Given the description of an element on the screen output the (x, y) to click on. 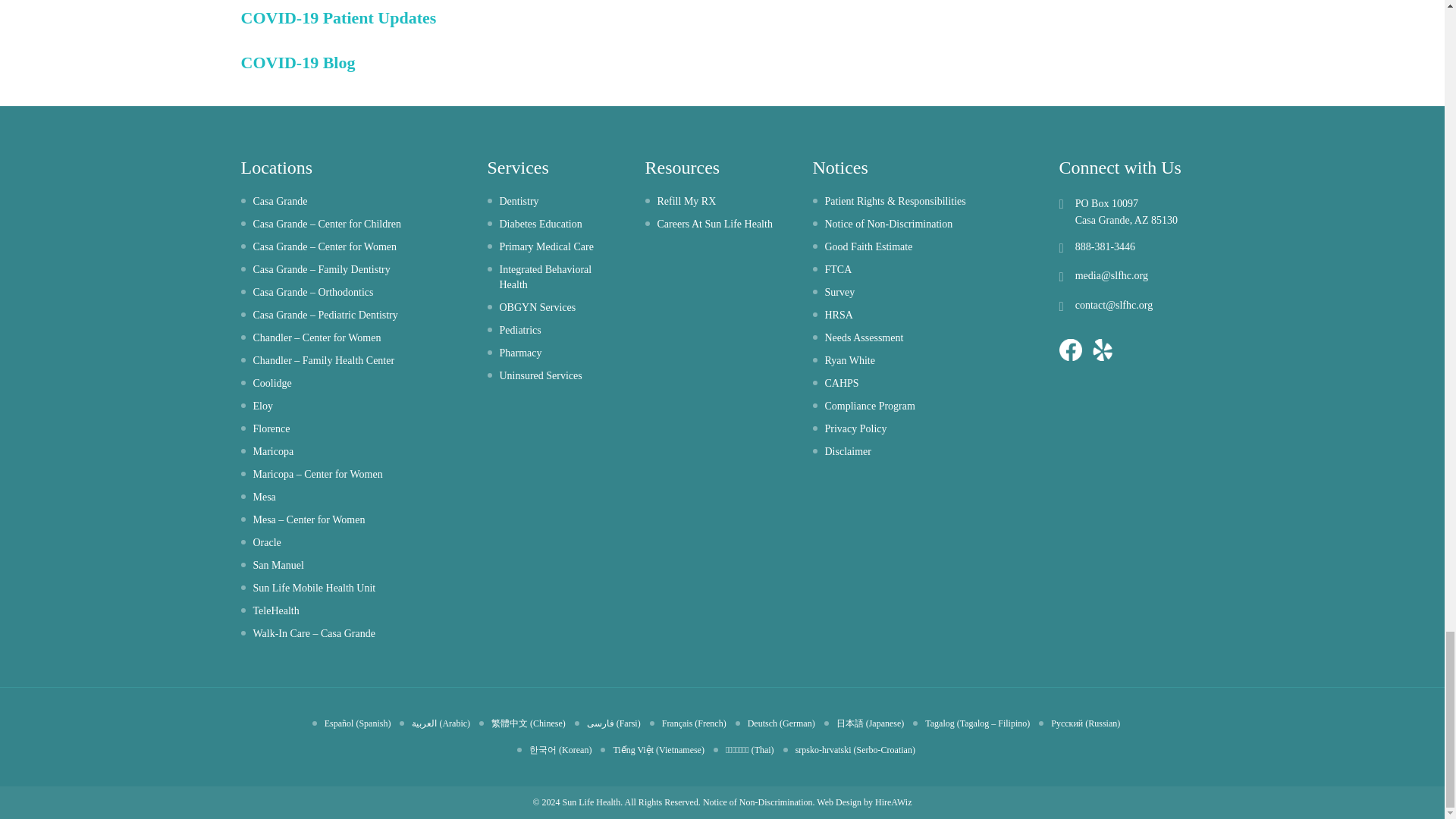
COVID-19 Blog (298, 62)
COVID-19 Patient Updates (338, 17)
